Given the description of an element on the screen output the (x, y) to click on. 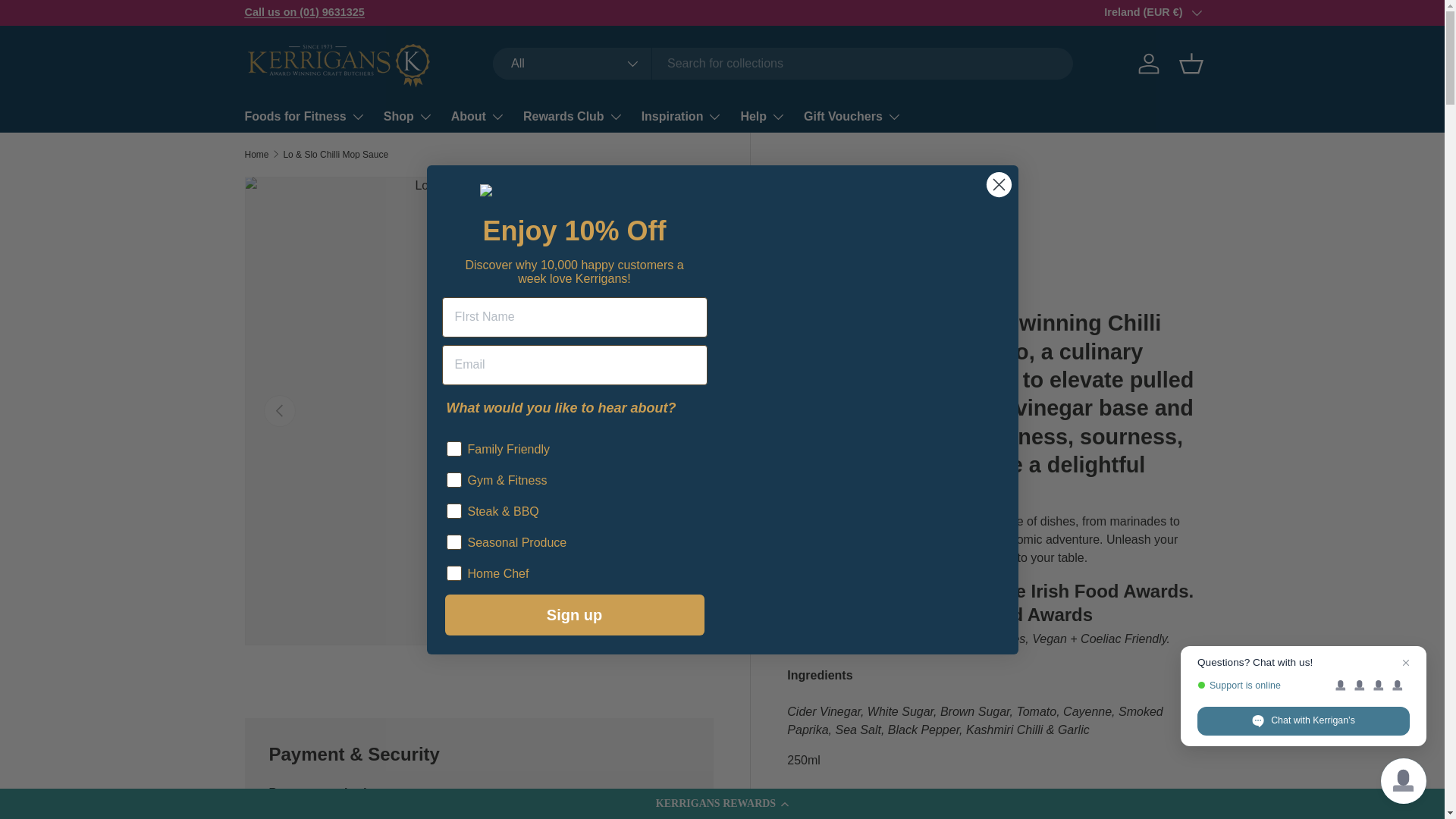
on (450, 497)
1 (847, 807)
Skip to content (69, 21)
Basket (1190, 63)
Foods for Fitness (304, 116)
All (572, 63)
on (450, 435)
on (450, 467)
on (450, 529)
tel:0035319631325 (304, 11)
Log in (1147, 63)
on (450, 560)
Shop (408, 116)
